Given the description of an element on the screen output the (x, y) to click on. 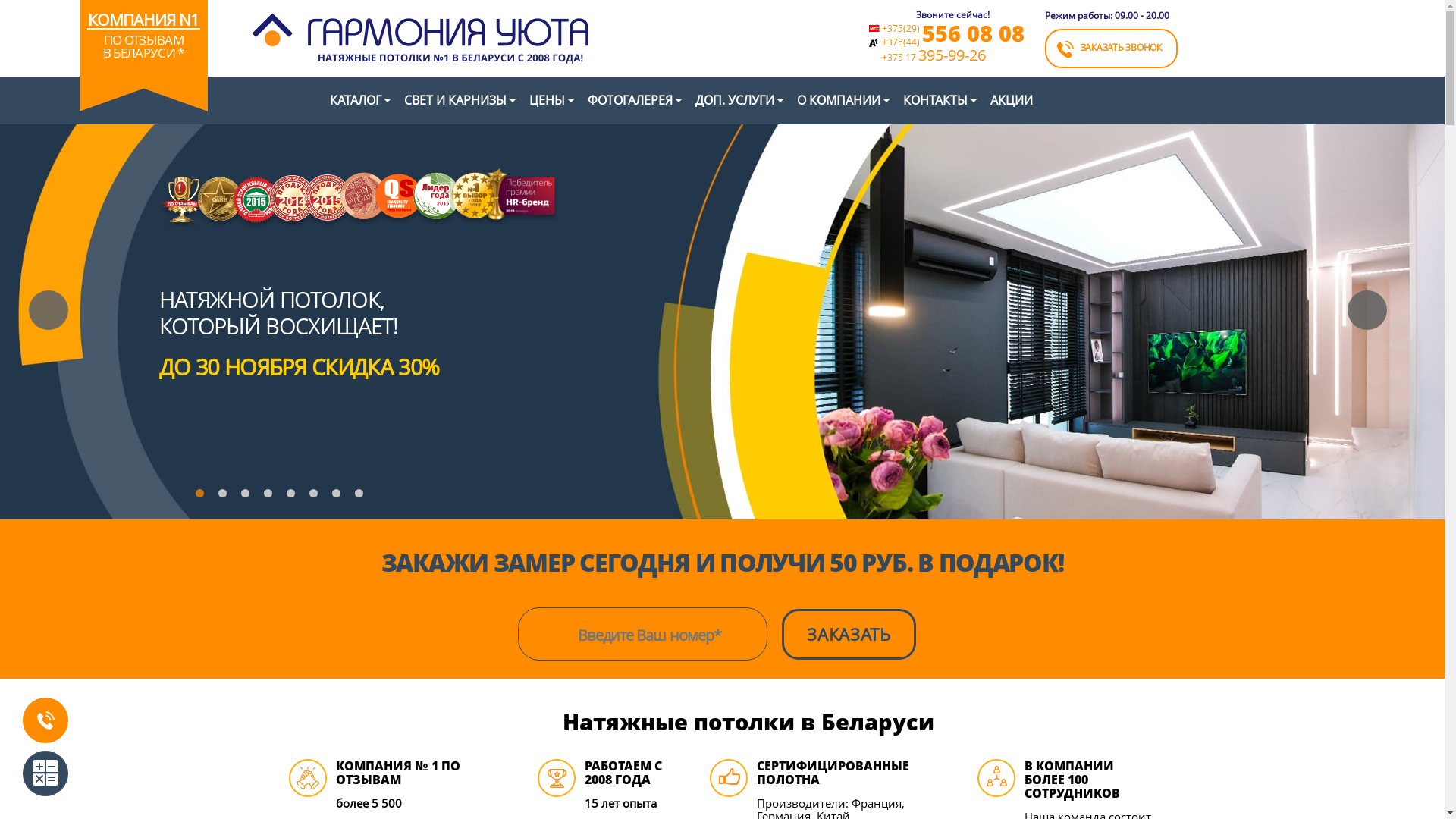
8 Element type: text (362, 496)
* Element type: text (180, 52)
+375(44) Element type: text (900, 41)
Previous Element type: text (48, 309)
556 08 08 Element type: text (973, 32)
+375(29) Element type: text (900, 27)
7 Element type: text (339, 496)
1 Element type: text (202, 496)
+375 17395-99-26 Element type: text (952, 55)
Next Element type: text (1366, 309)
2 Element type: text (225, 496)
4 Element type: text (271, 496)
3 Element type: text (248, 496)
6 Element type: text (316, 496)
5 Element type: text (293, 496)
